Given the description of an element on the screen output the (x, y) to click on. 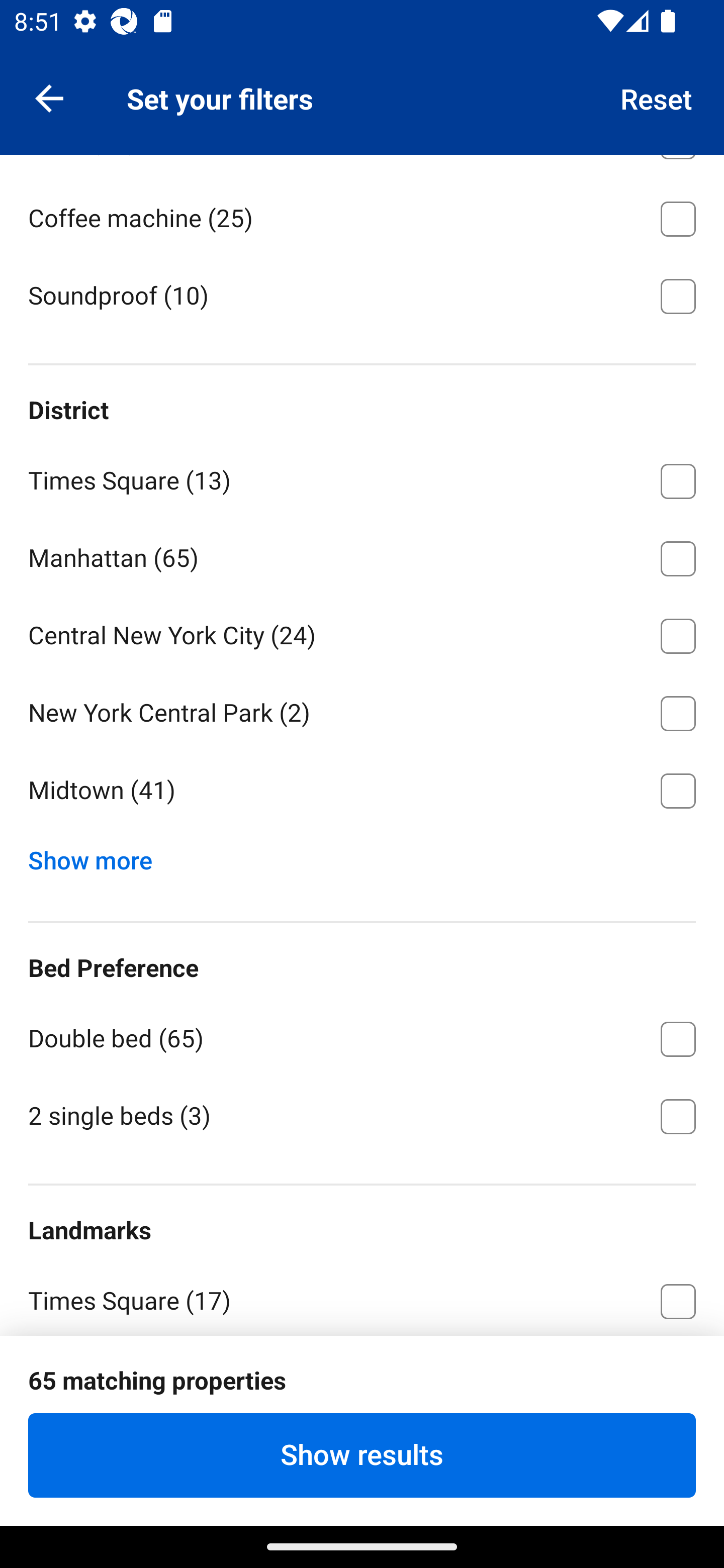
Navigate up (49, 97)
Reset (656, 97)
Coffee machine ⁦(25) (361, 215)
Soundproof ⁦(10) (361, 294)
Times Square ⁦(13) (361, 477)
Manhattan ⁦(65) (361, 554)
Central New York City ⁦(24) (361, 632)
New York Central Park ⁦(2) (361, 710)
Midtown ⁦(41) (361, 790)
Show more (97, 855)
Double bed ⁦(65) (361, 1035)
2 single beds ⁦(3) (361, 1114)
Times Square ⁦(17) (361, 1297)
Central Park ⁦(2) (361, 1375)
Show results (361, 1454)
